Given the description of an element on the screen output the (x, y) to click on. 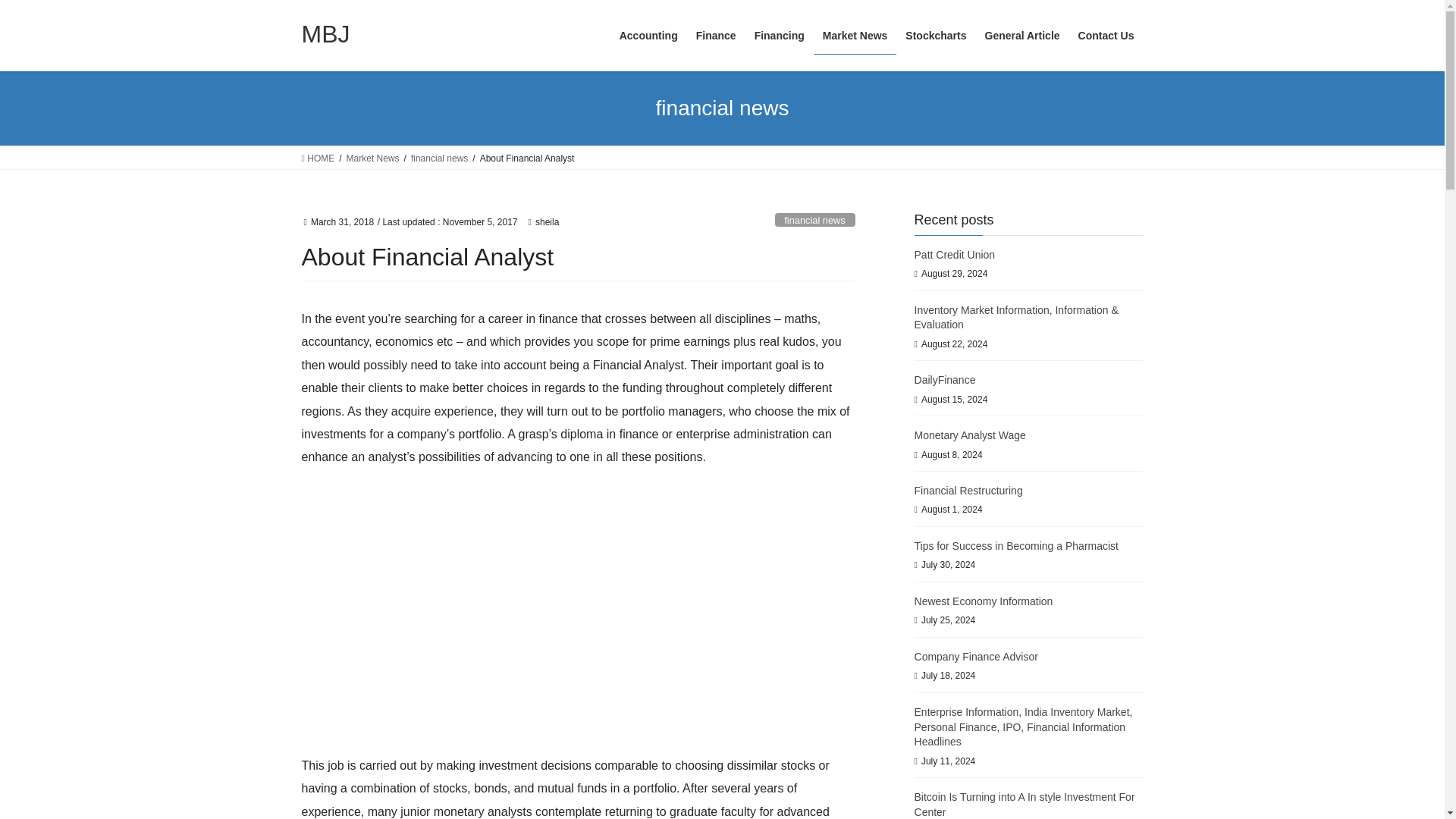
Stockcharts (935, 36)
HOME (317, 157)
Accounting (648, 36)
General Article (1021, 36)
Finance (716, 36)
financial news (815, 219)
MBJ (325, 33)
Financing (779, 36)
Market News (854, 36)
Market News (372, 157)
